Given the description of an element on the screen output the (x, y) to click on. 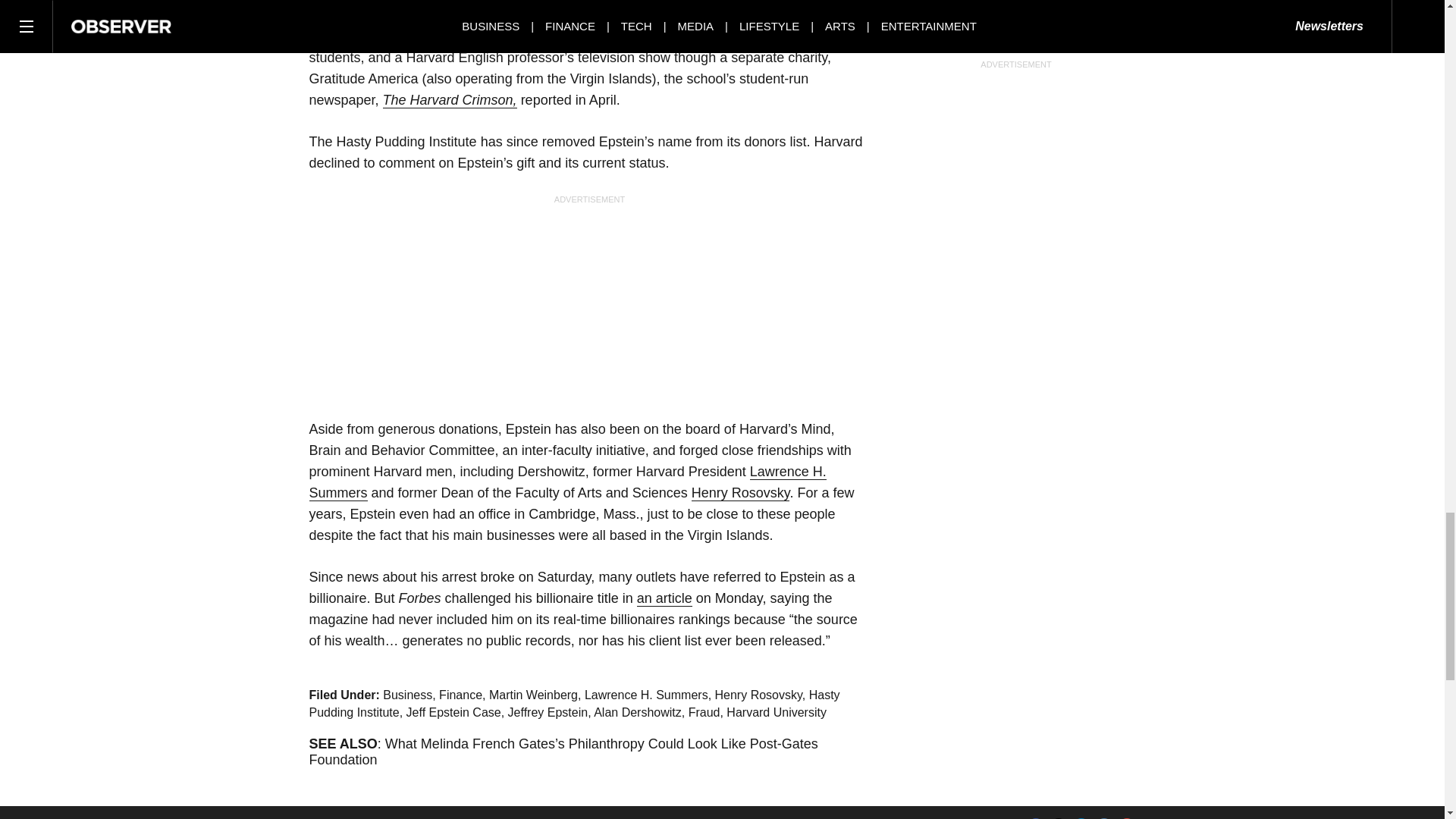
Henry Rosovsky (740, 493)
Lawrence H. Summers (567, 482)
